Given the description of an element on the screen output the (x, y) to click on. 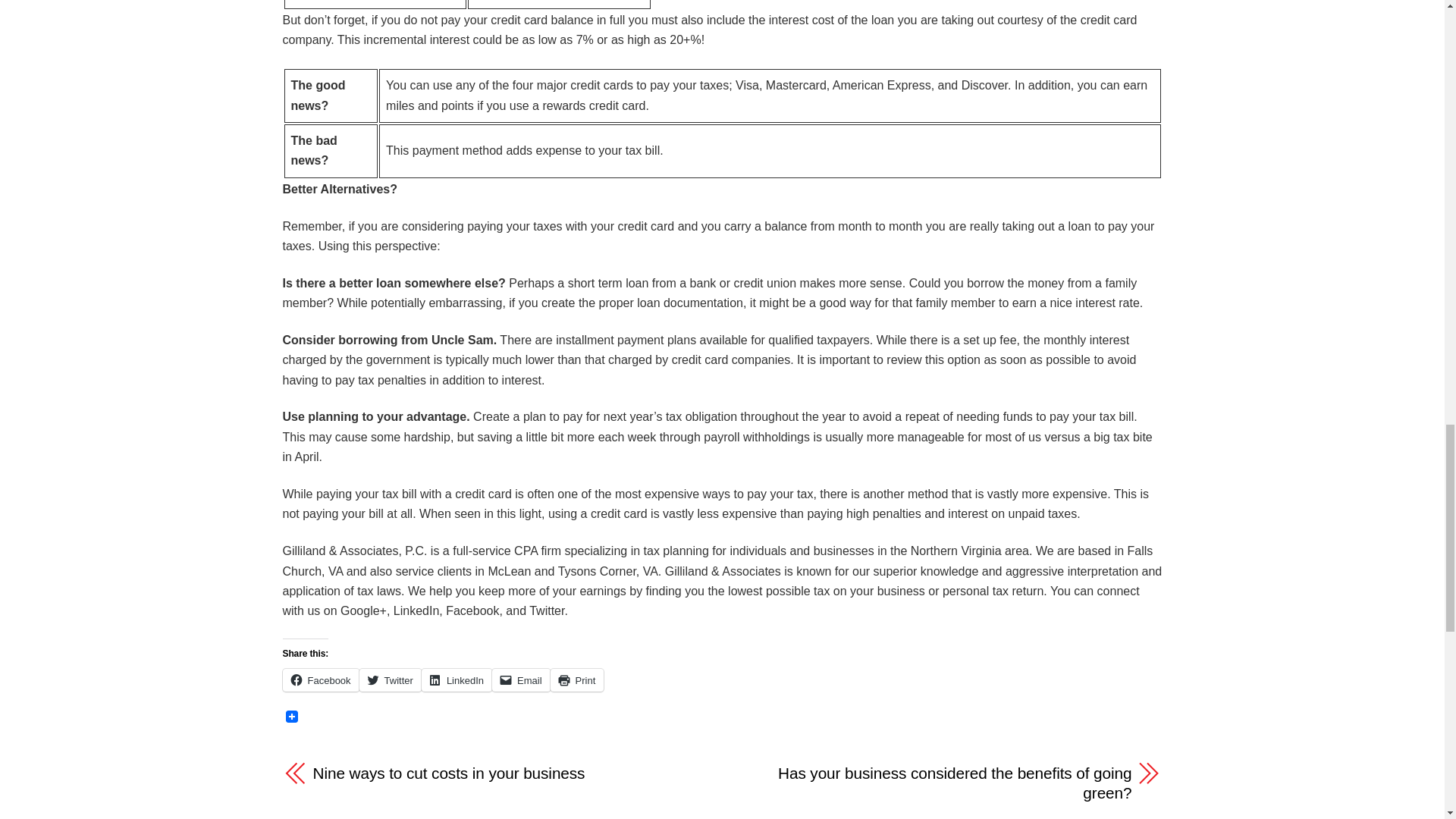
Click to share on Facebook (320, 680)
LinkedIn (457, 680)
Click to print (577, 680)
Click to share on Twitter (390, 680)
Email (521, 680)
Print (577, 680)
Twitter (390, 680)
Facebook (320, 680)
Click to share on LinkedIn (457, 680)
Click to email a link to a friend (521, 680)
